Given the description of an element on the screen output the (x, y) to click on. 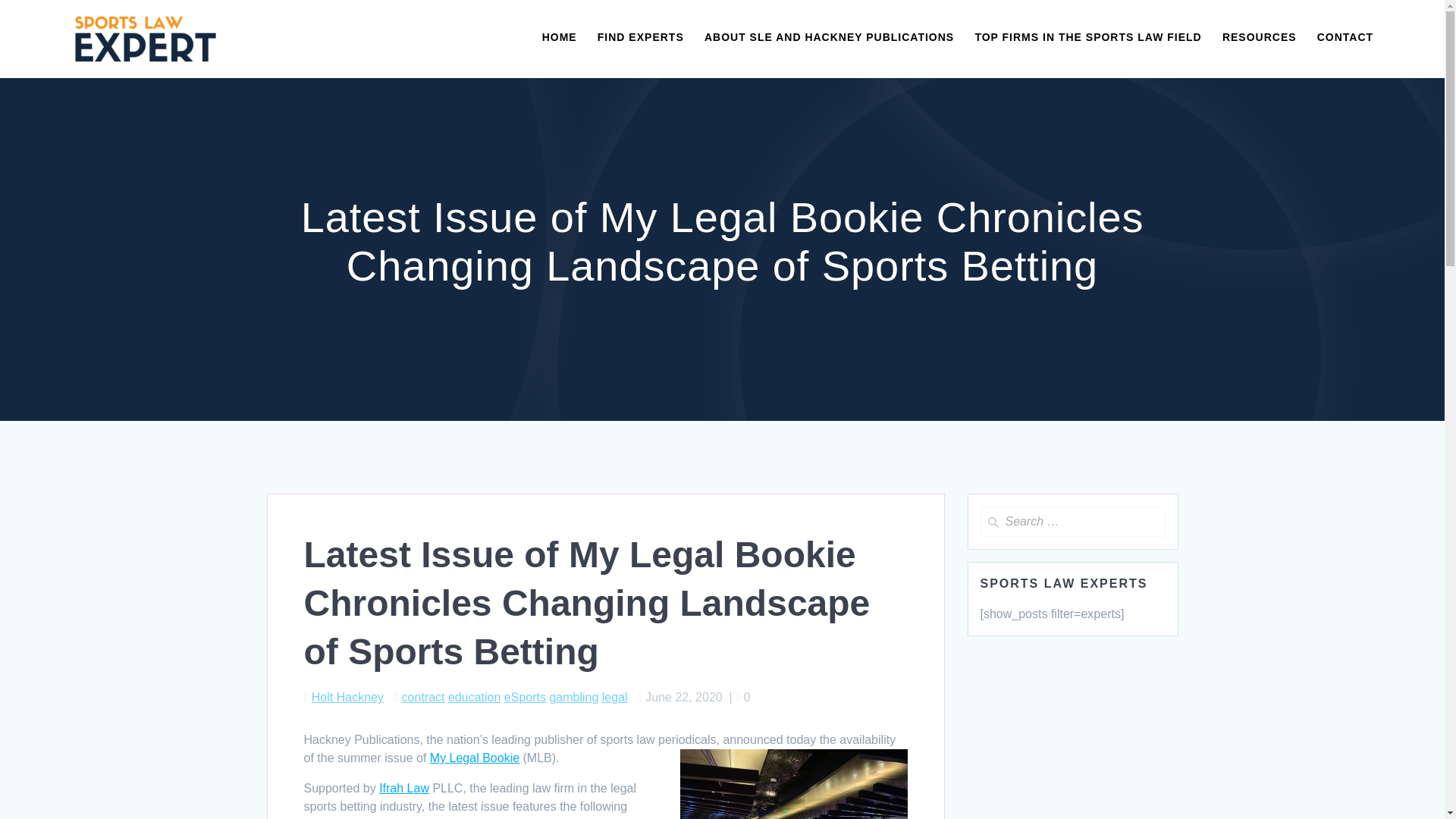
ABOUT SLE AND HACKNEY PUBLICATIONS (828, 37)
contract (423, 697)
Holt Hackney (347, 697)
education (474, 697)
TOP FIRMS IN THE SPORTS LAW FIELD (1087, 37)
FIND EXPERTS (640, 37)
HOME (558, 37)
gambling (573, 697)
My Legal Bookie (474, 757)
eSports (524, 697)
legal (614, 697)
Posts by Holt Hackney (347, 697)
Ifrah Law (403, 788)
RESOURCES (1260, 37)
CONTACT (1345, 37)
